Given the description of an element on the screen output the (x, y) to click on. 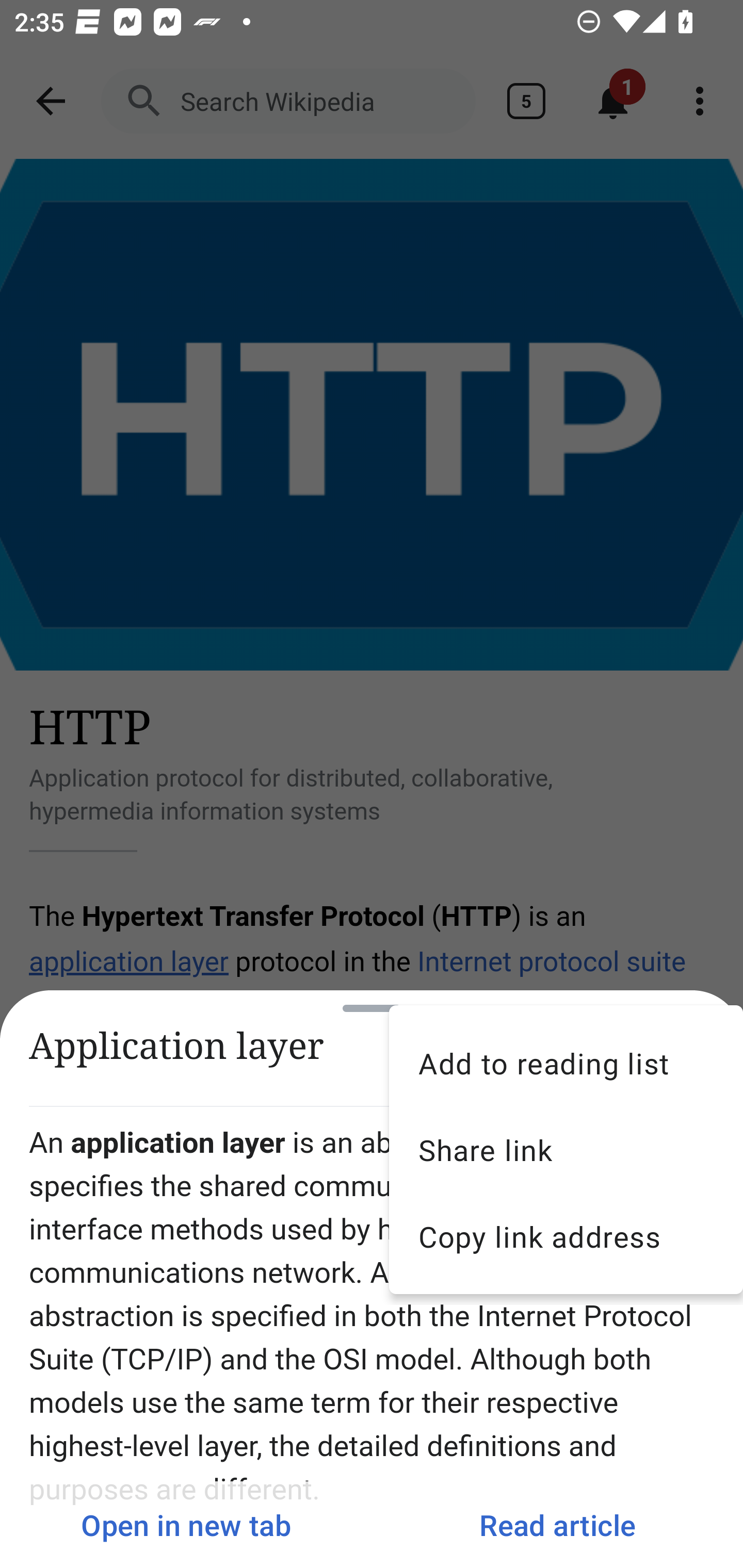
Add to reading list (566, 1063)
Share link (566, 1150)
Copy link address (566, 1236)
